Given the description of an element on the screen output the (x, y) to click on. 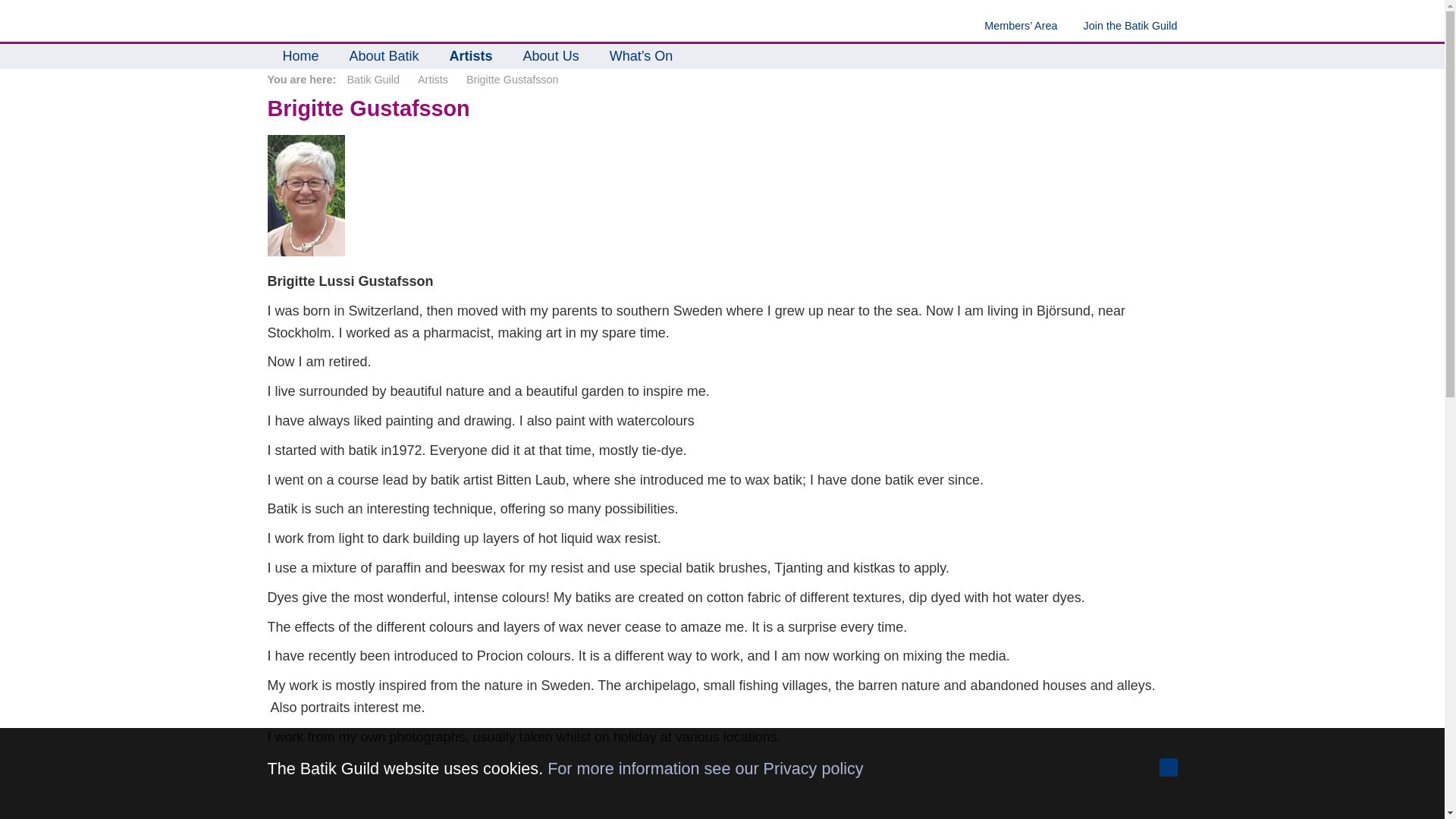
Join the Batik Guild (1117, 25)
Batik Guild home page (299, 56)
Some information about Batik (383, 56)
Artists (470, 56)
About Batik (383, 56)
Home (299, 56)
Join the Batik Guild (1117, 25)
